Given the description of an element on the screen output the (x, y) to click on. 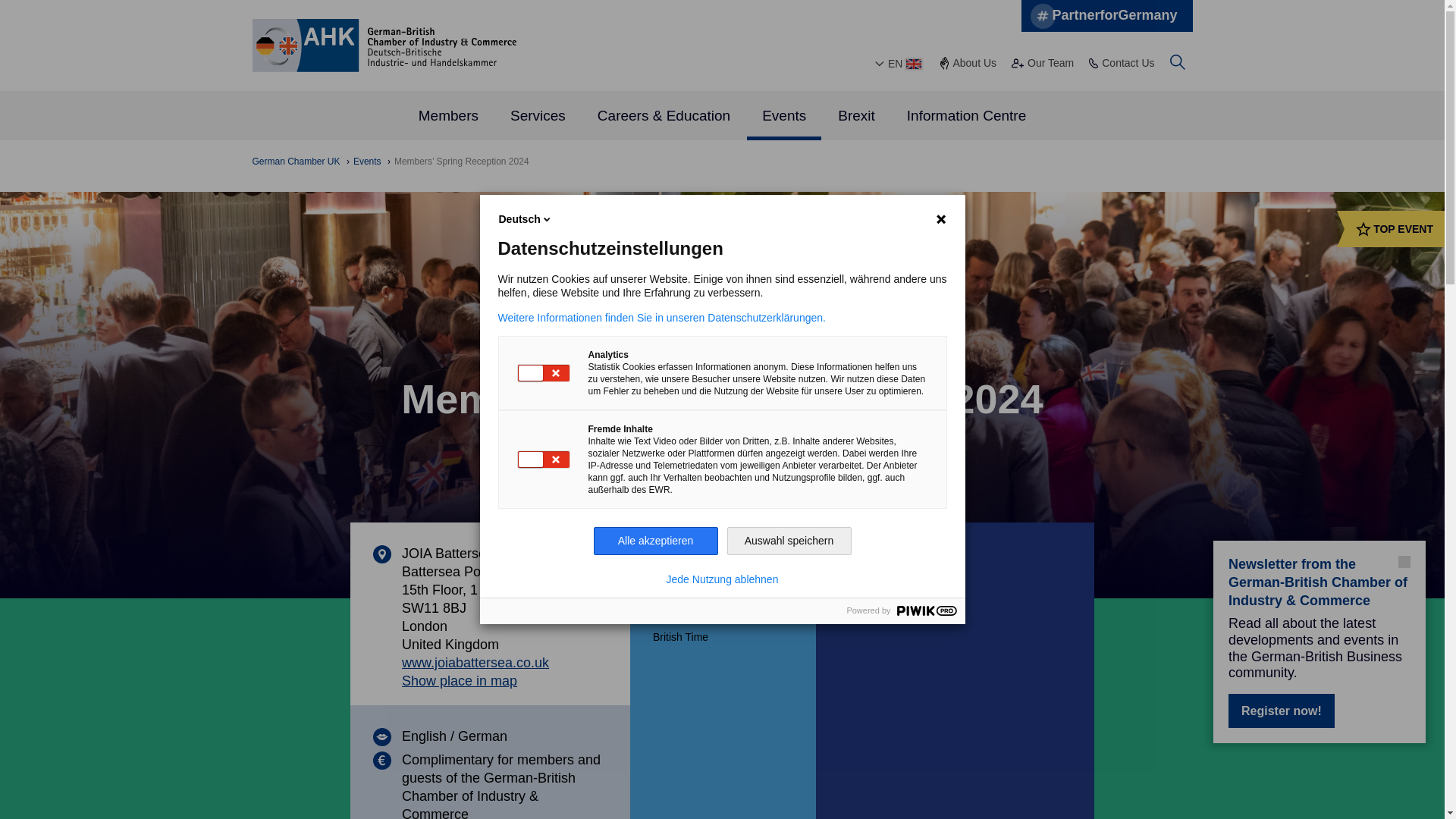
PartnerforGermany (1107, 15)
Events (368, 161)
Location (381, 554)
German Chamber UK (296, 161)
Main (721, 117)
